Given the description of an element on the screen output the (x, y) to click on. 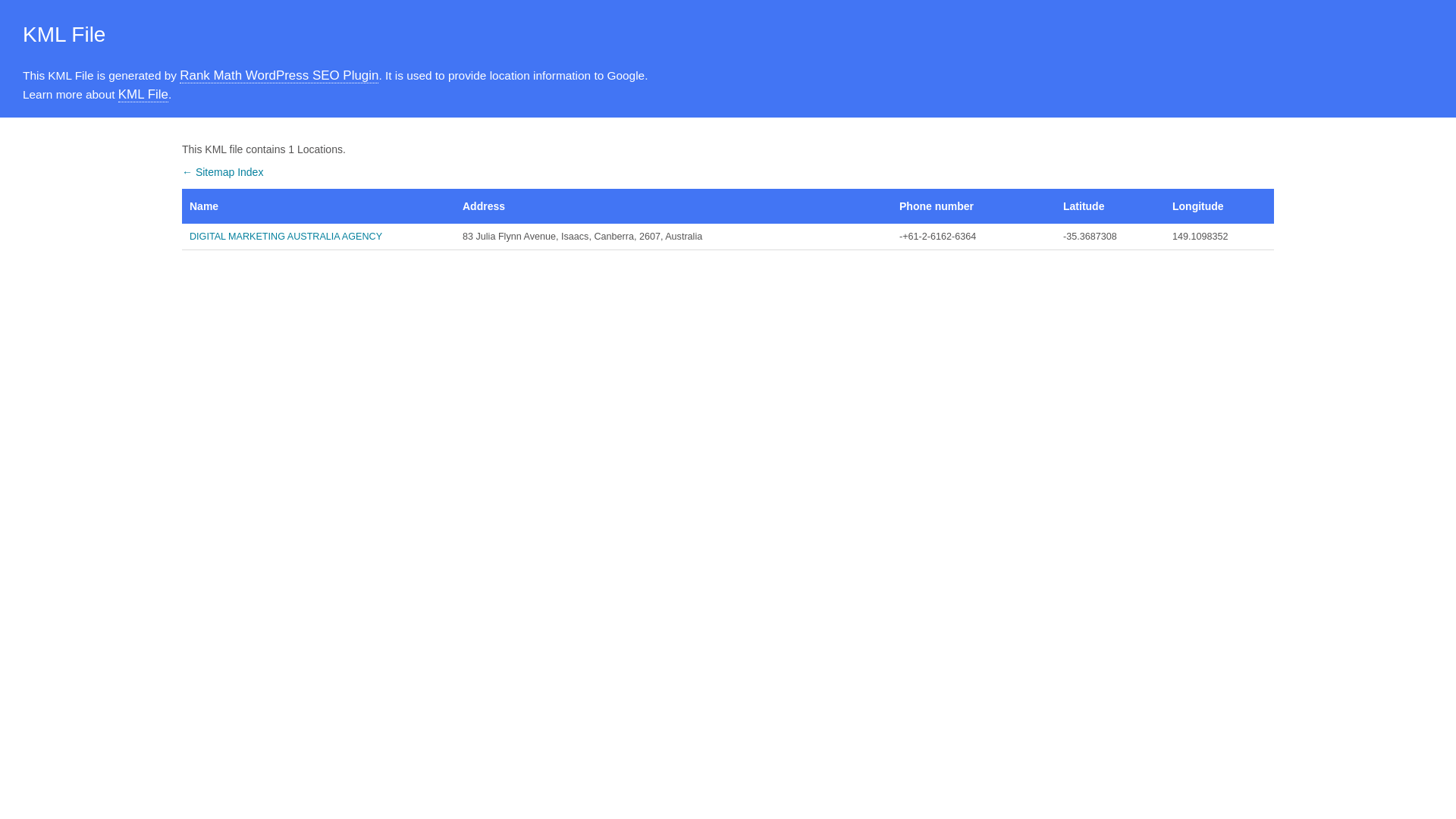
DIGITAL MARKETING AUSTRALIA AGENCY Element type: text (318, 236)
Rank Math WordPress SEO Plugin Element type: text (278, 75)
KML File Element type: text (143, 94)
